Given the description of an element on the screen output the (x, y) to click on. 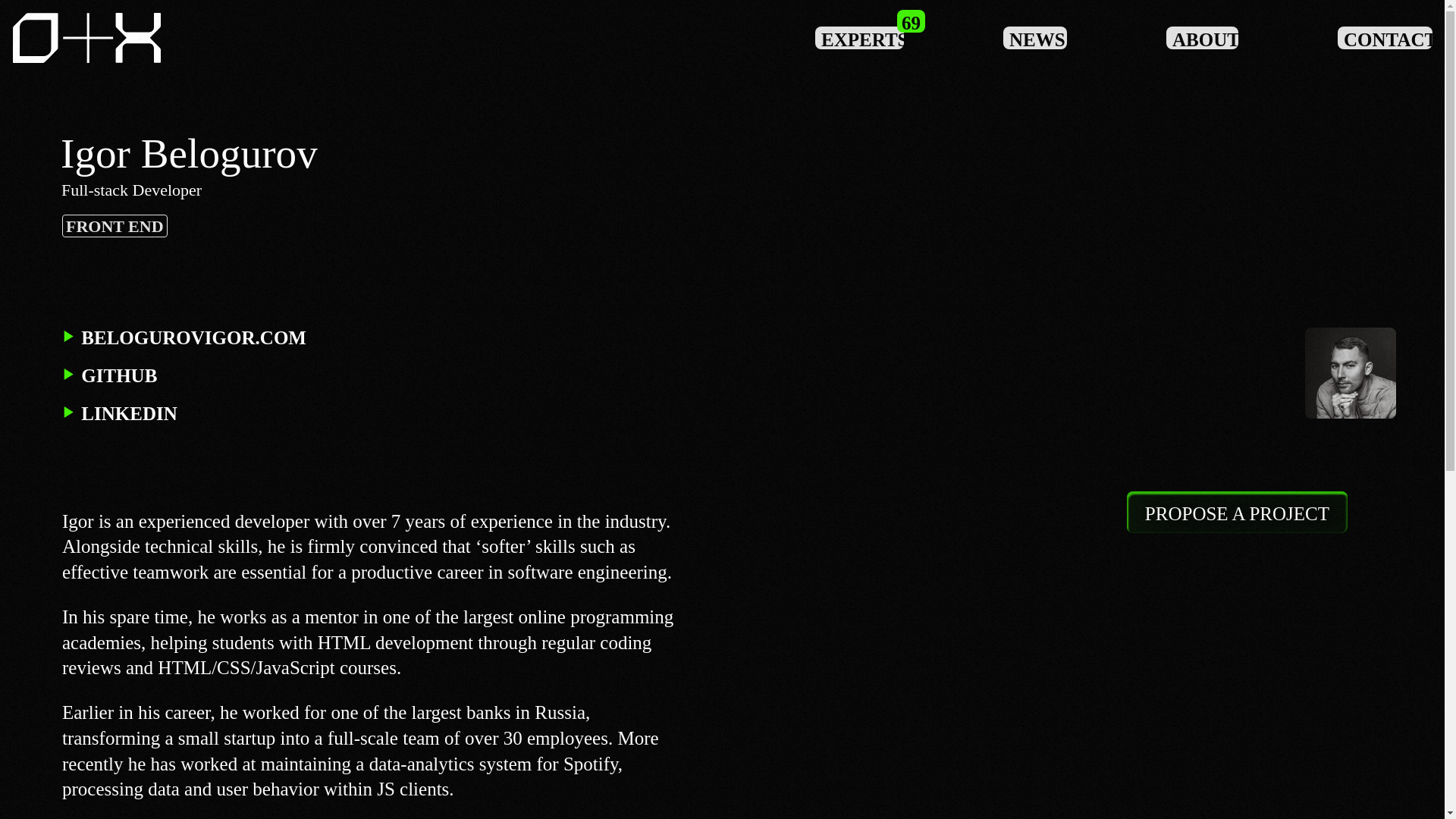
LINKEDIN (119, 413)
GITHUB (109, 375)
CONTACT (1385, 37)
FRONT END (114, 225)
PROPOSE A PROJECT (1237, 512)
BELOGUROVIGOR.COM (183, 337)
ABOUT (1202, 37)
